Given the description of an element on the screen output the (x, y) to click on. 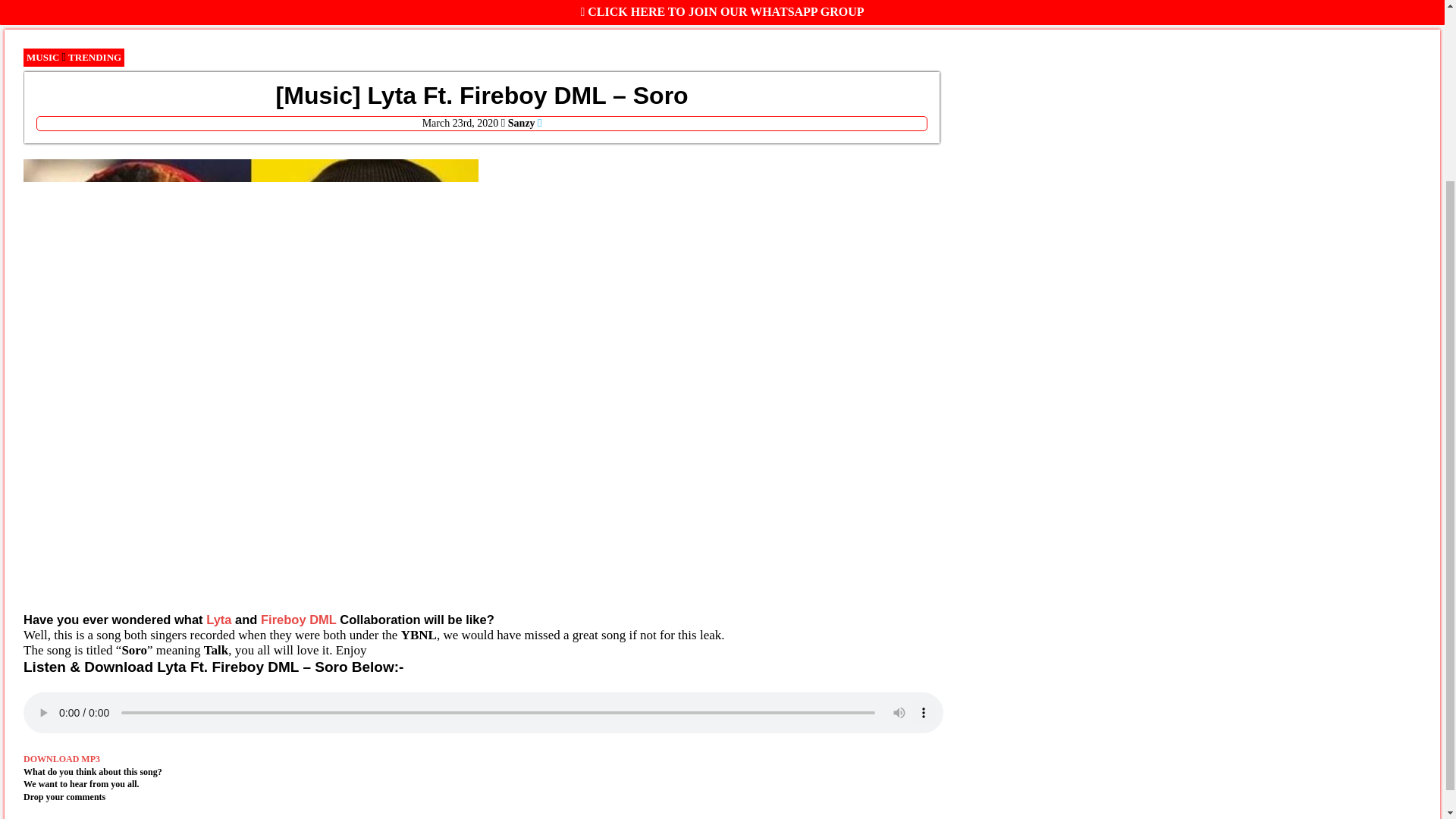
MUSIC (42, 57)
DOWNLOAD MP3 (61, 758)
MUSIC TRENDING (73, 57)
CLICK HERE TO JOIN OUR WHATSAPP GROUP (724, 11)
TRENDING (94, 57)
oy DML (313, 619)
Lyta (218, 619)
Sanzy (521, 122)
Fireb (275, 619)
Posts by Sanzy (521, 122)
